Given the description of an element on the screen output the (x, y) to click on. 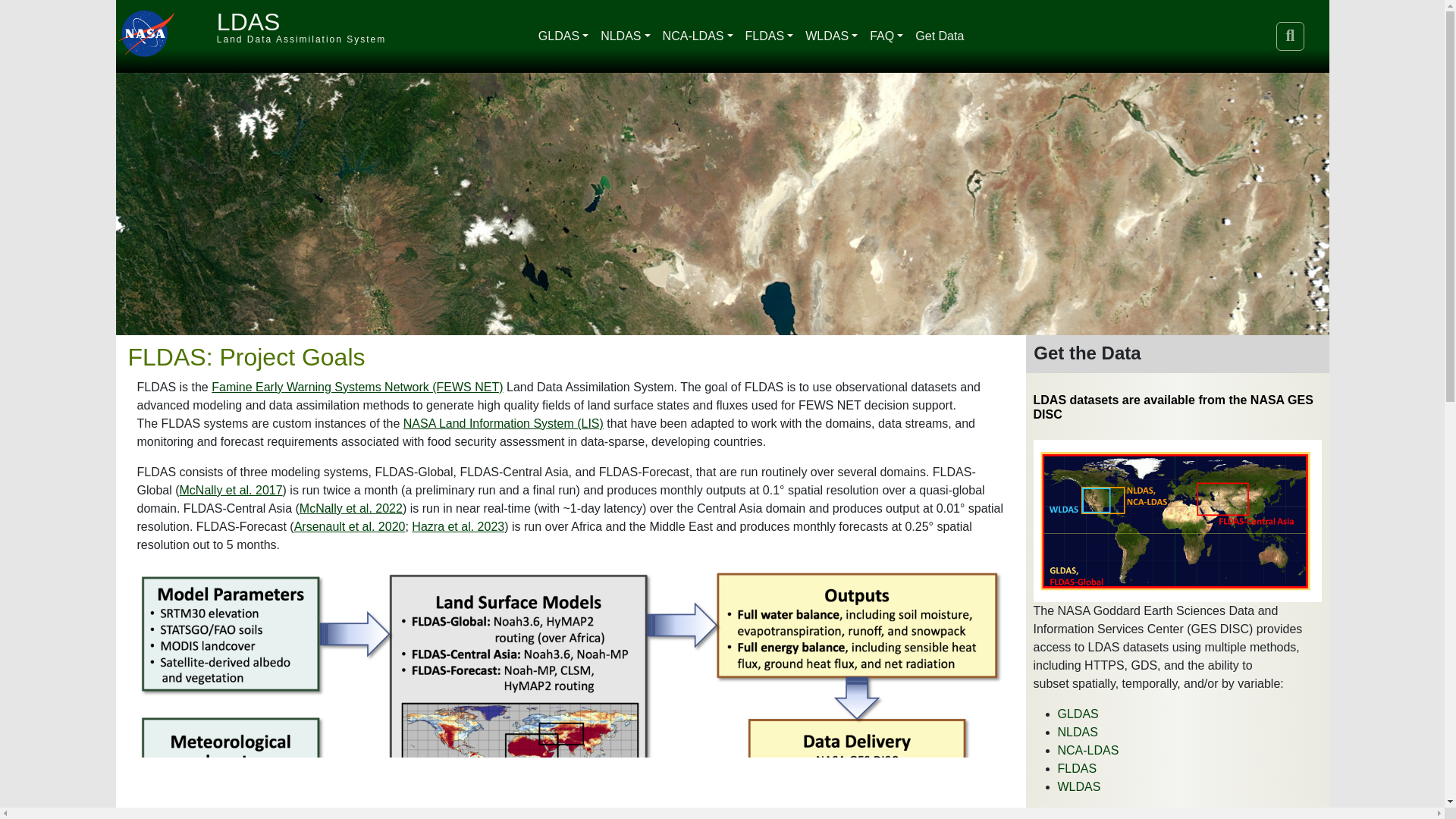
NLDAS (625, 36)
GLDAS (563, 36)
NCA-LDAS (697, 36)
LDAS (248, 22)
Home (248, 22)
